Given the description of an element on the screen output the (x, y) to click on. 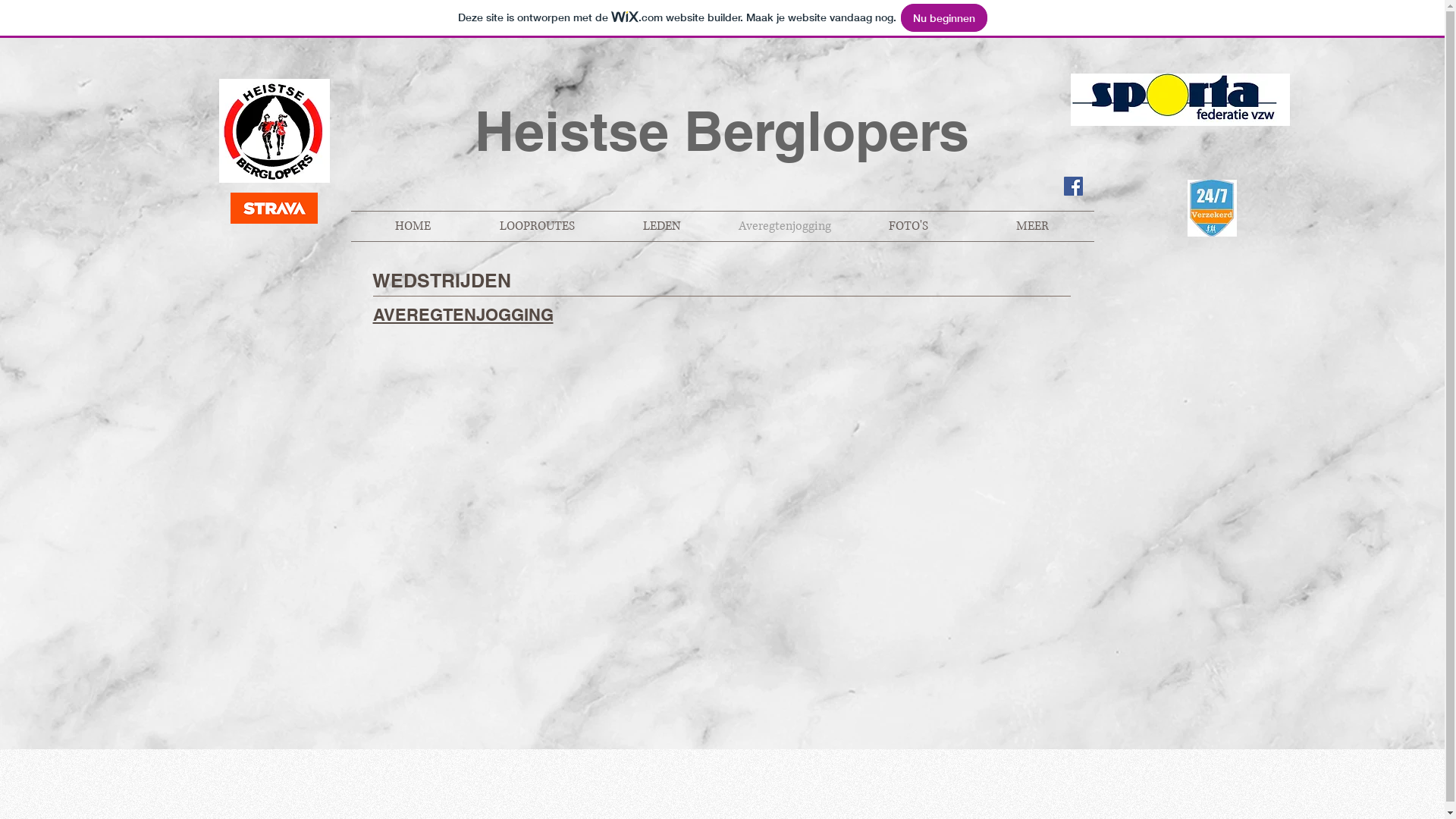
LOOPROUTES Element type: text (536, 226)
Heistse Berglopers Element type: text (721, 130)
HOME Element type: text (412, 226)
AVEREGTENJOGGING Element type: text (463, 314)
Averegtenjogging Element type: text (785, 226)
LEDEN Element type: text (660, 226)
FOTO'S Element type: text (907, 226)
